Given the description of an element on the screen output the (x, y) to click on. 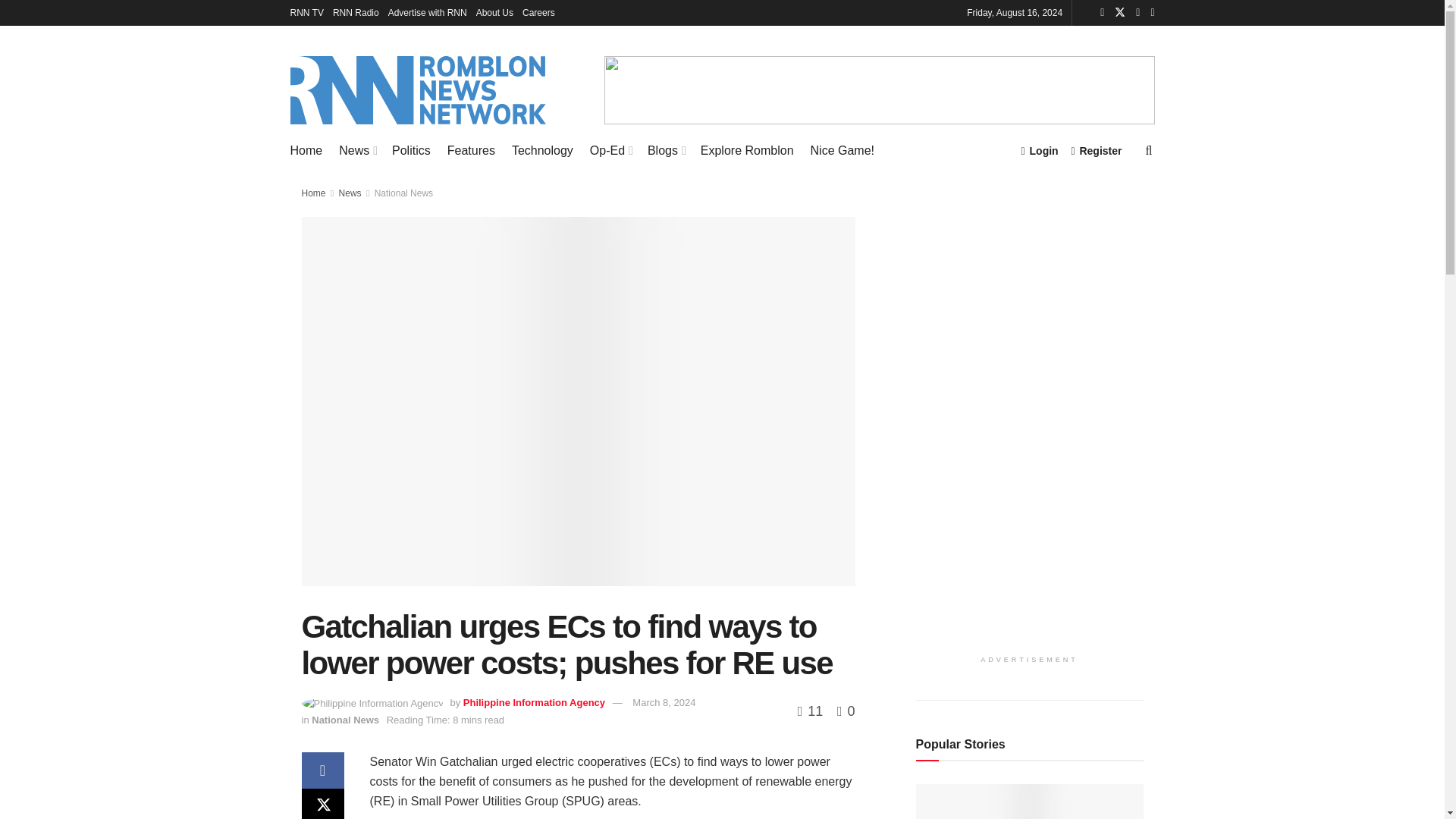
Features (470, 150)
Advertise with RNN (427, 12)
Politics (410, 150)
Home (305, 150)
Careers (538, 12)
RNN TV (306, 12)
News (357, 150)
Technology (542, 150)
About Us (494, 12)
RNN Radio (355, 12)
